Given the description of an element on the screen output the (x, y) to click on. 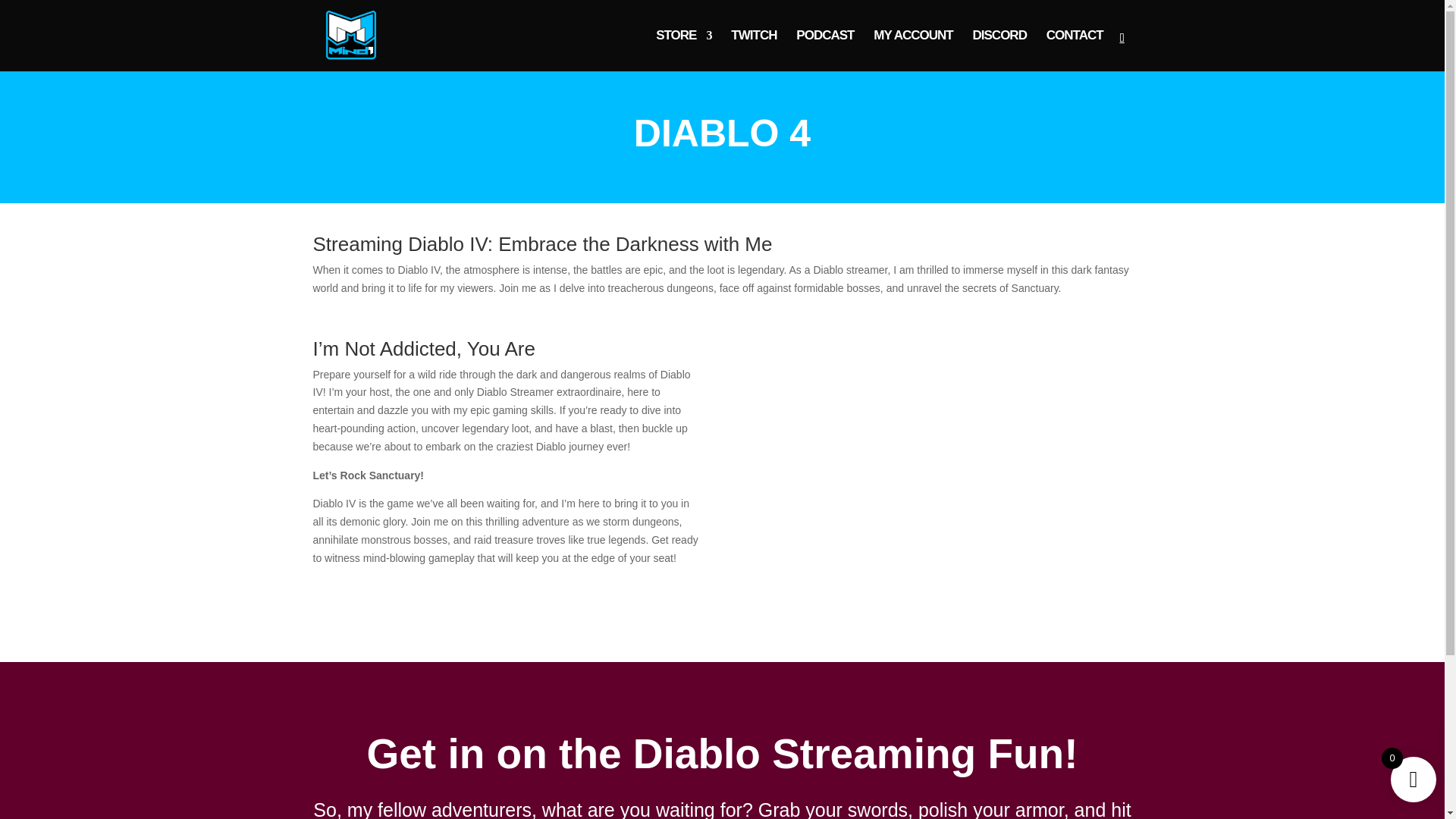
TWITCH (753, 50)
CONTACT (1074, 50)
MY ACCOUNT (912, 50)
DISCORD (999, 50)
PODCAST (824, 50)
STORE (683, 50)
